Given the description of an element on the screen output the (x, y) to click on. 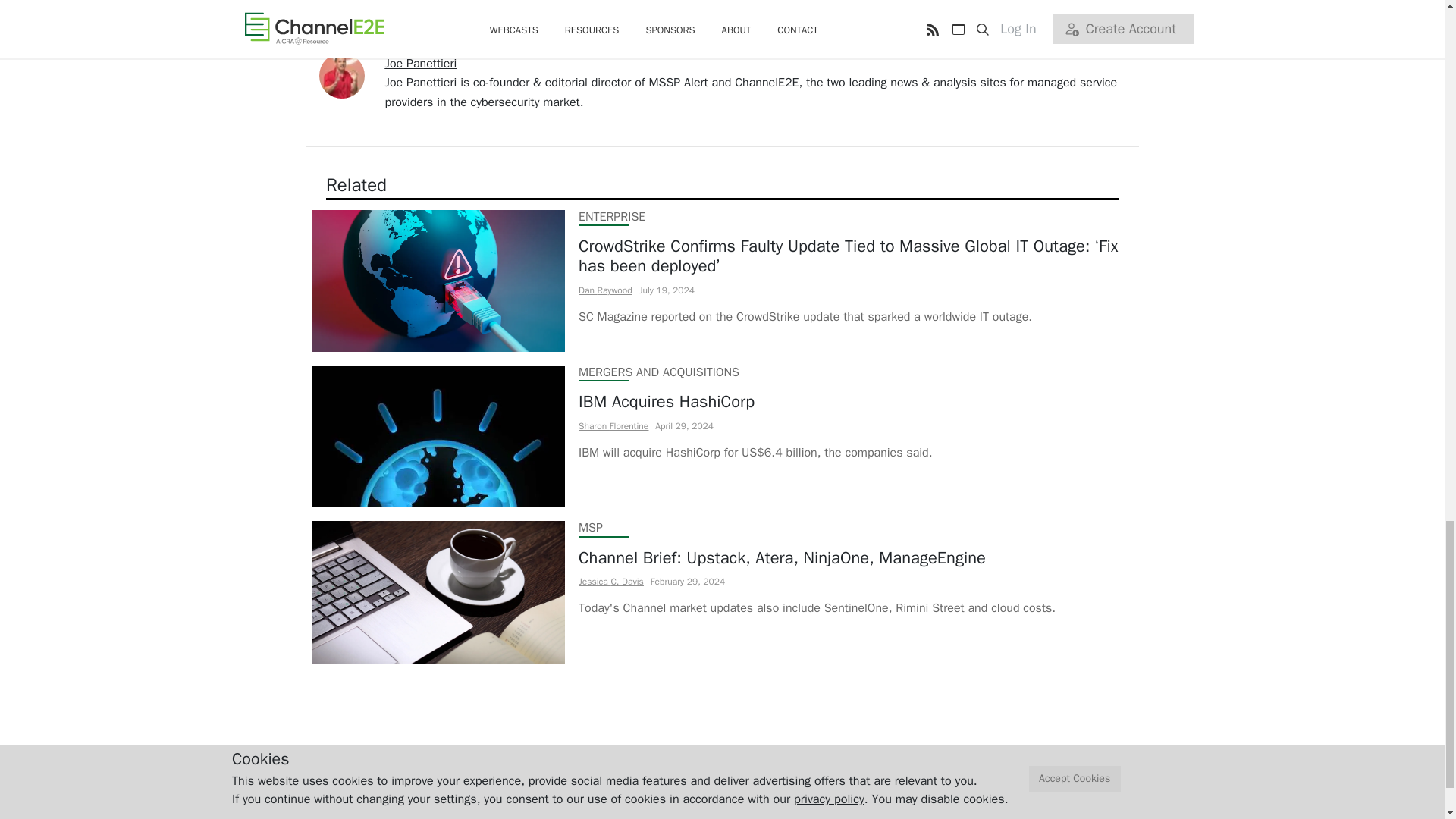
MSP (590, 527)
ENTERPRISE (611, 215)
Channel Brief: Upstack, Atera, NinjaOne, ManageEngine (816, 557)
Jessica C. Davis (610, 581)
Dan Raywood (604, 289)
MERGERS AND ACQUISITIONS (658, 372)
Sharon Florentine (612, 425)
IBM Acquires HashiCorp (754, 401)
Joe Panettieri (421, 63)
